Given the description of an element on the screen output the (x, y) to click on. 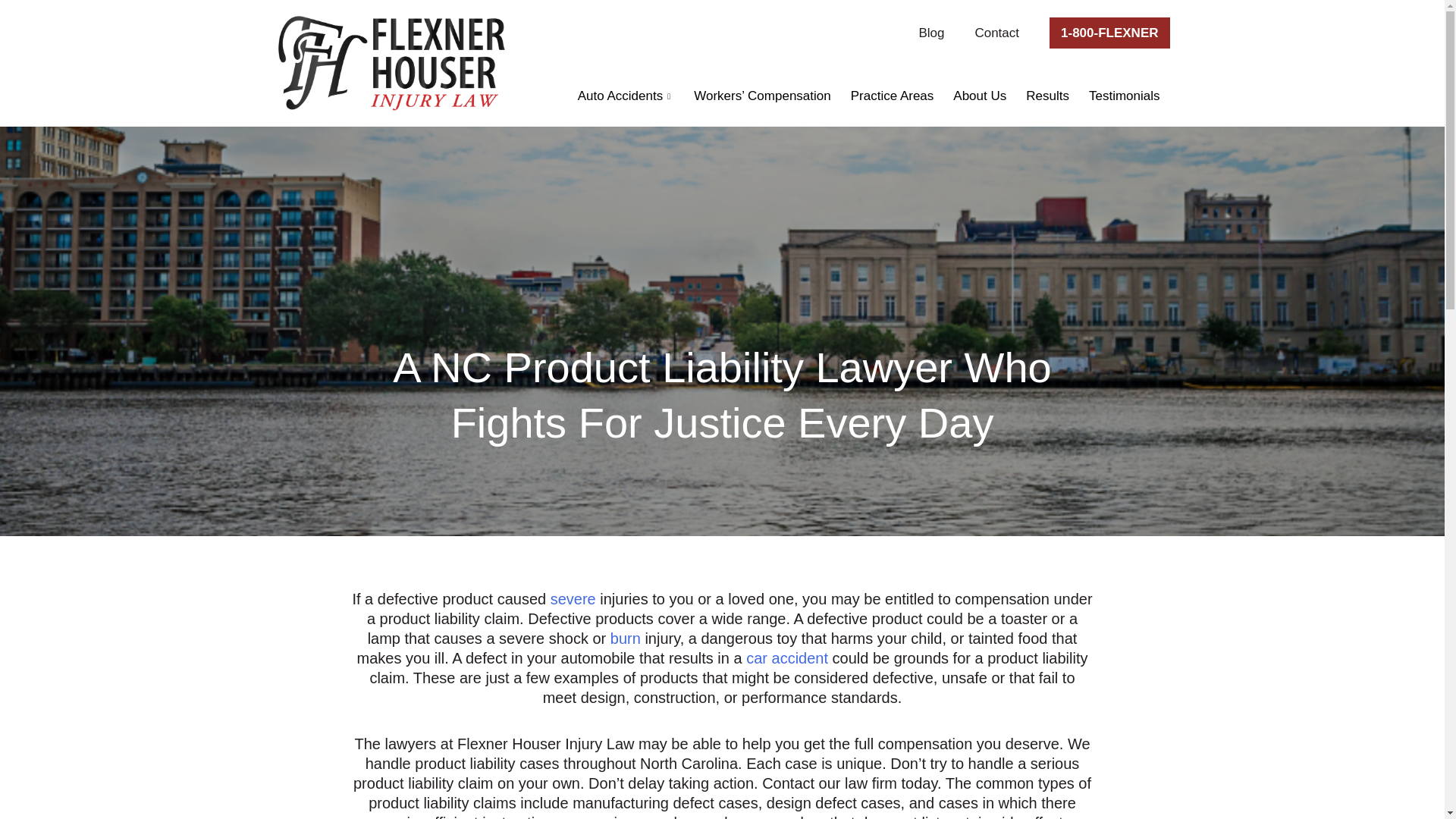
About Us (979, 96)
car accident (786, 717)
1-800-FLEXNER (1109, 32)
Blog (930, 32)
Auto Accidents (625, 96)
severe (572, 670)
Testimonials (1123, 96)
burn (625, 705)
Contact (996, 32)
Practice Areas (892, 96)
